Given the description of an element on the screen output the (x, y) to click on. 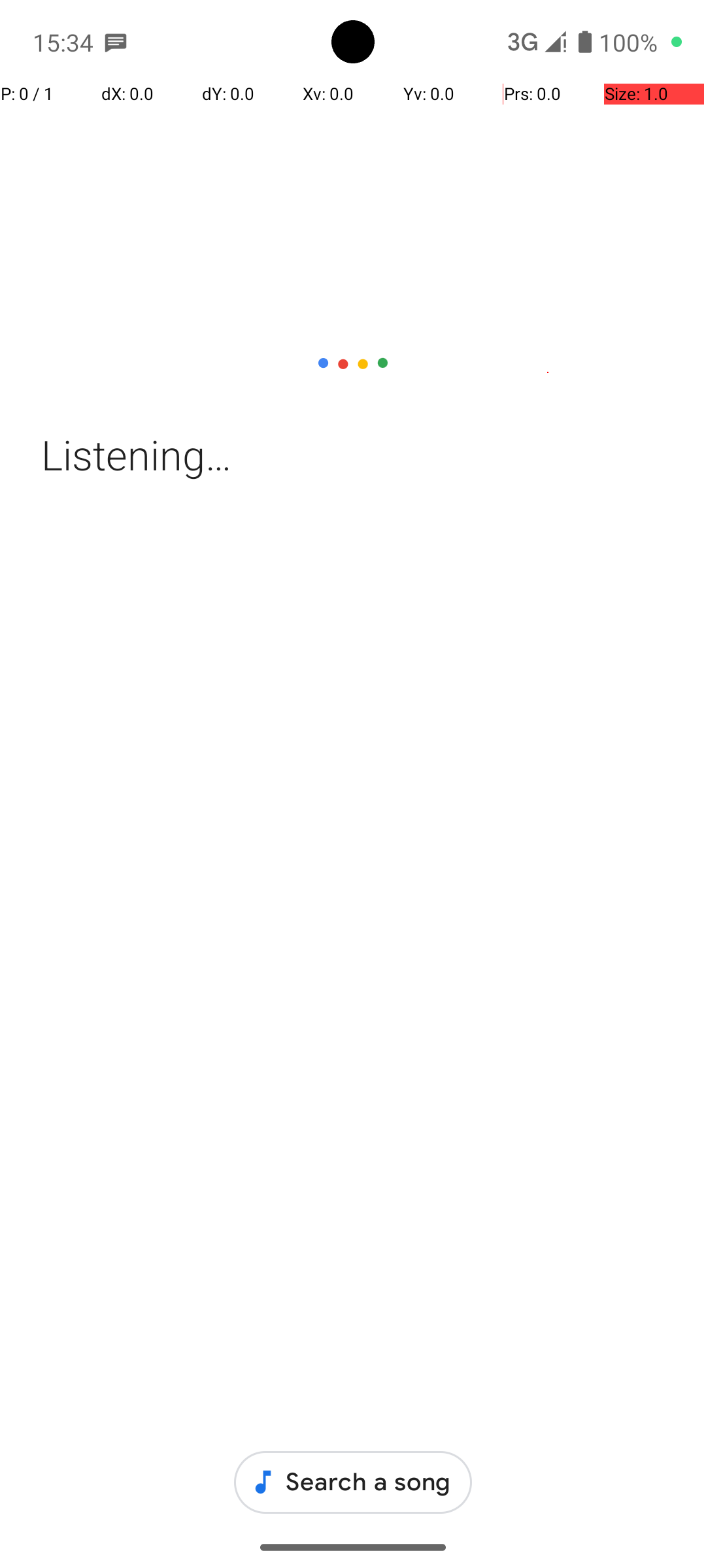
Listening… Element type: android.widget.TextView (352, 454)
Tap to cancel Element type: android.view.View (352, 361)
Search a song Element type: android.widget.Button (352, 1482)
